Given the description of an element on the screen output the (x, y) to click on. 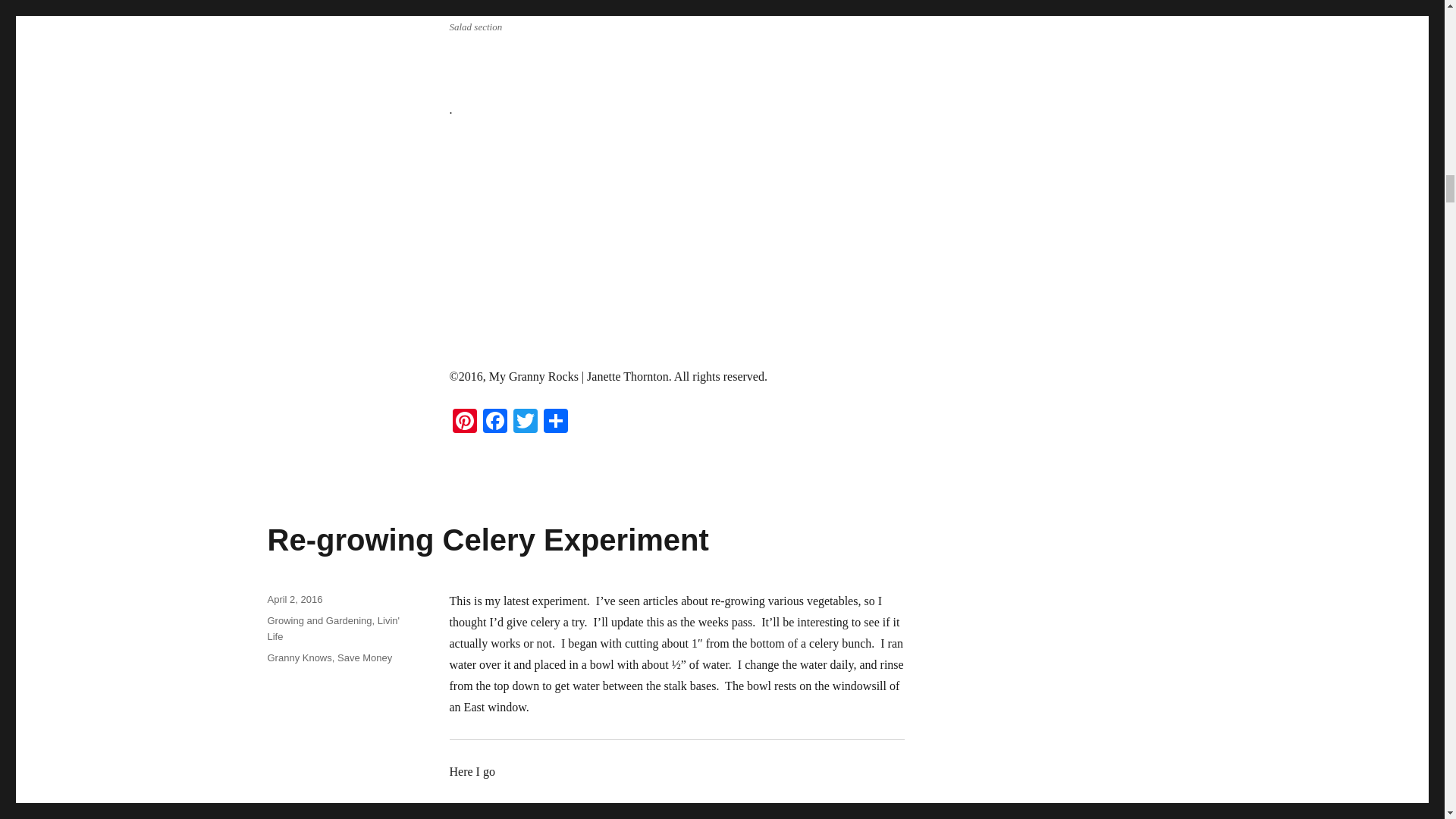
Twitter (524, 422)
Save Money (364, 657)
Re-growing Celery Experiment (486, 539)
Growing and Gardening (318, 620)
Facebook (494, 422)
Livin' Life (332, 628)
April 2, 2016 (293, 599)
Share (555, 422)
Pinterest (463, 422)
Granny Knows (298, 657)
Facebook (494, 422)
Twitter (524, 422)
Pinterest (463, 422)
